Given the description of an element on the screen output the (x, y) to click on. 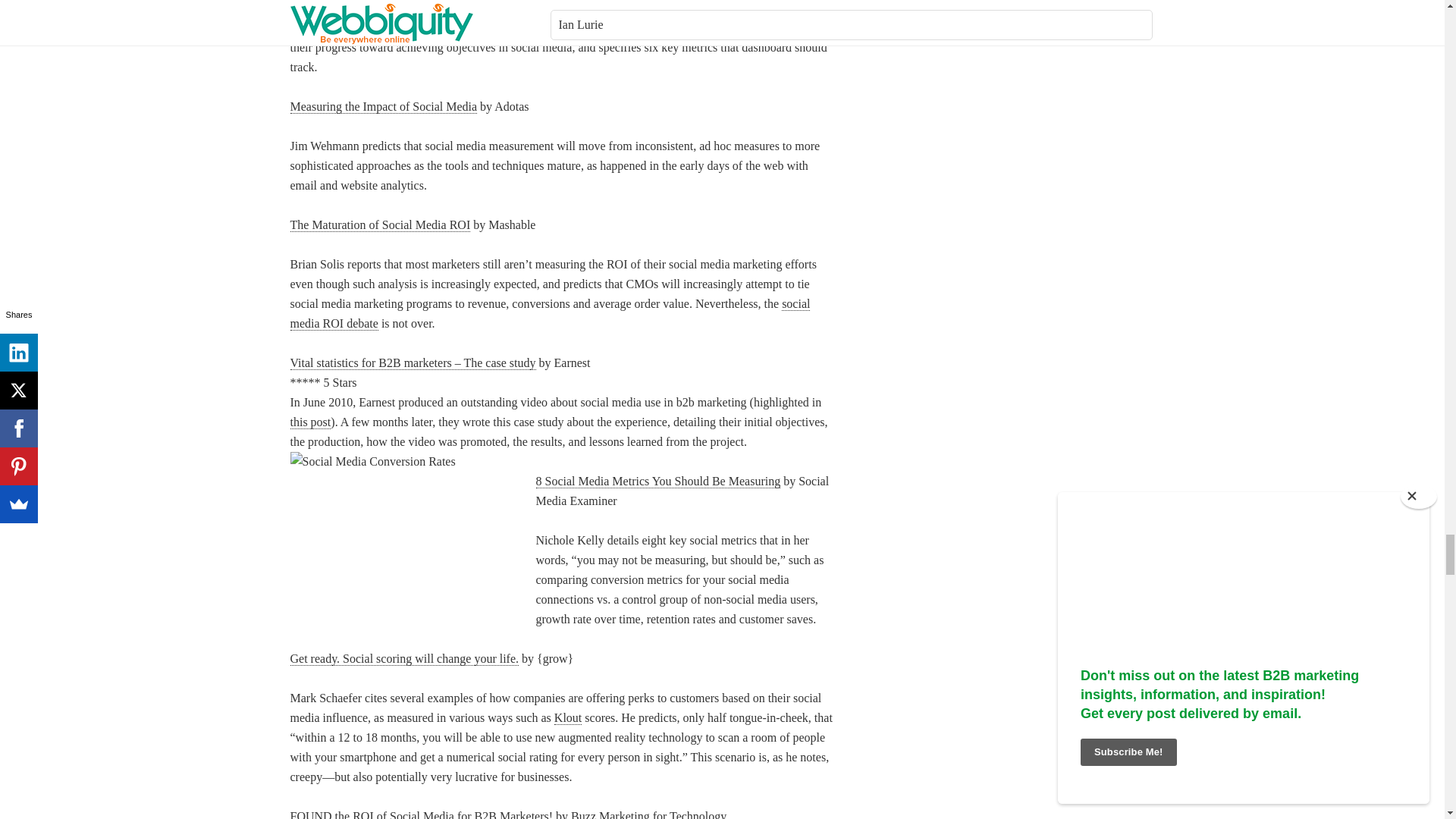
social-media-conversion-rates (402, 537)
